Given the description of an element on the screen output the (x, y) to click on. 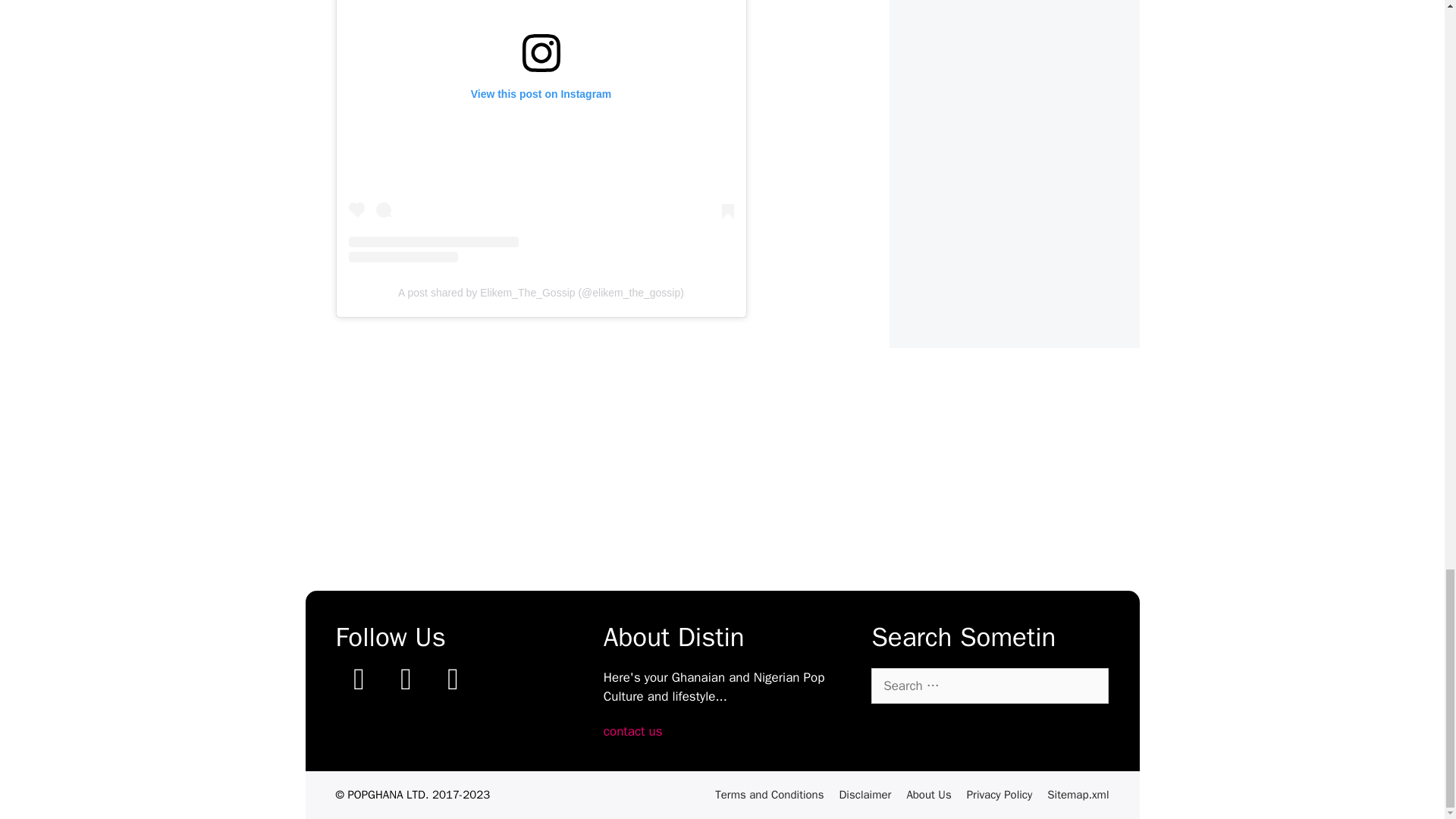
Search for: (989, 686)
Terms and Conditions (769, 794)
View this post on Instagram (541, 131)
Privacy Policy (999, 794)
About Us (927, 794)
Sitemap.xml (1077, 794)
contact us (633, 731)
Disclaimer (864, 794)
